Given the description of an element on the screen output the (x, y) to click on. 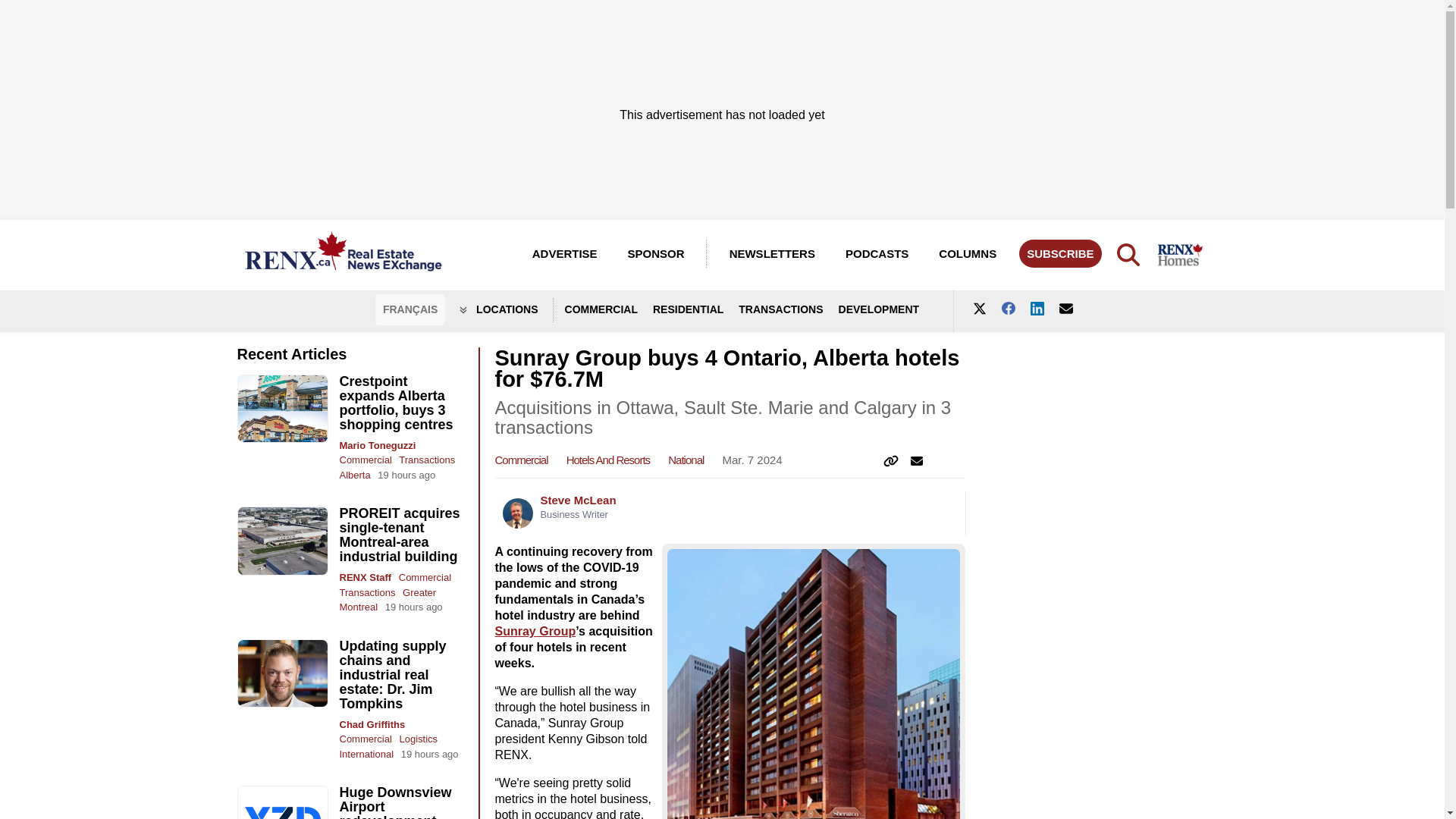
LOCATIONS (506, 309)
SPONSOR (663, 253)
SUBSCRIBE (1059, 253)
TRANSACTIONS (788, 309)
RESIDENTIAL (695, 309)
NEWSLETTERS (772, 253)
ADVERTISE (564, 253)
Huge Downsview Airport redevelopment gets a name: YZD (396, 801)
